Given the description of an element on the screen output the (x, y) to click on. 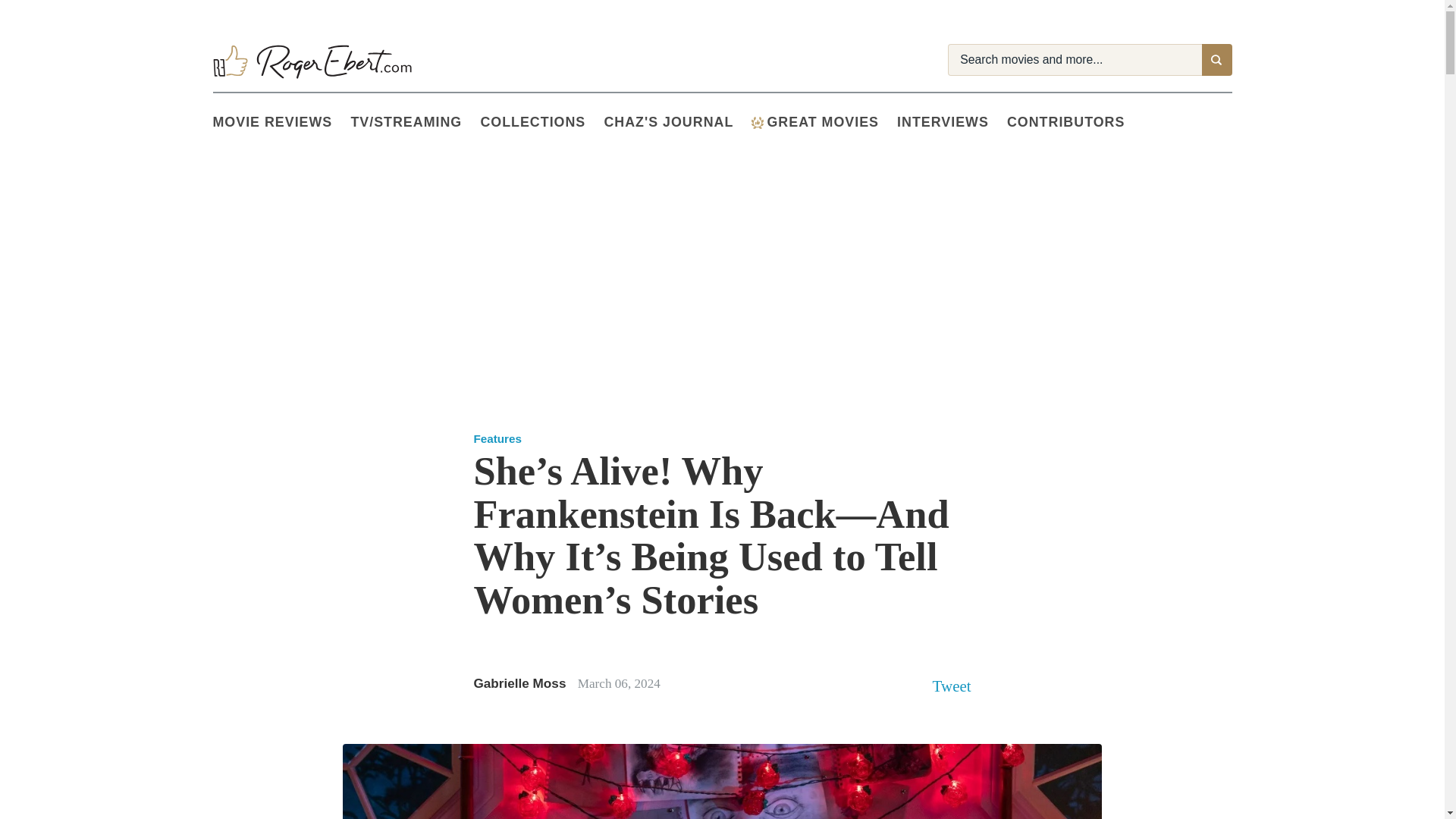
Contributors (1074, 122)
Movie Reviews (281, 122)
GREAT MOVIES (823, 122)
Great Movies (756, 122)
Collections (542, 122)
Search (1216, 60)
Great Movies (823, 122)
Features (497, 438)
MOVIE REVIEWS (281, 122)
Chaz's Journal (677, 122)
